Given the description of an element on the screen output the (x, y) to click on. 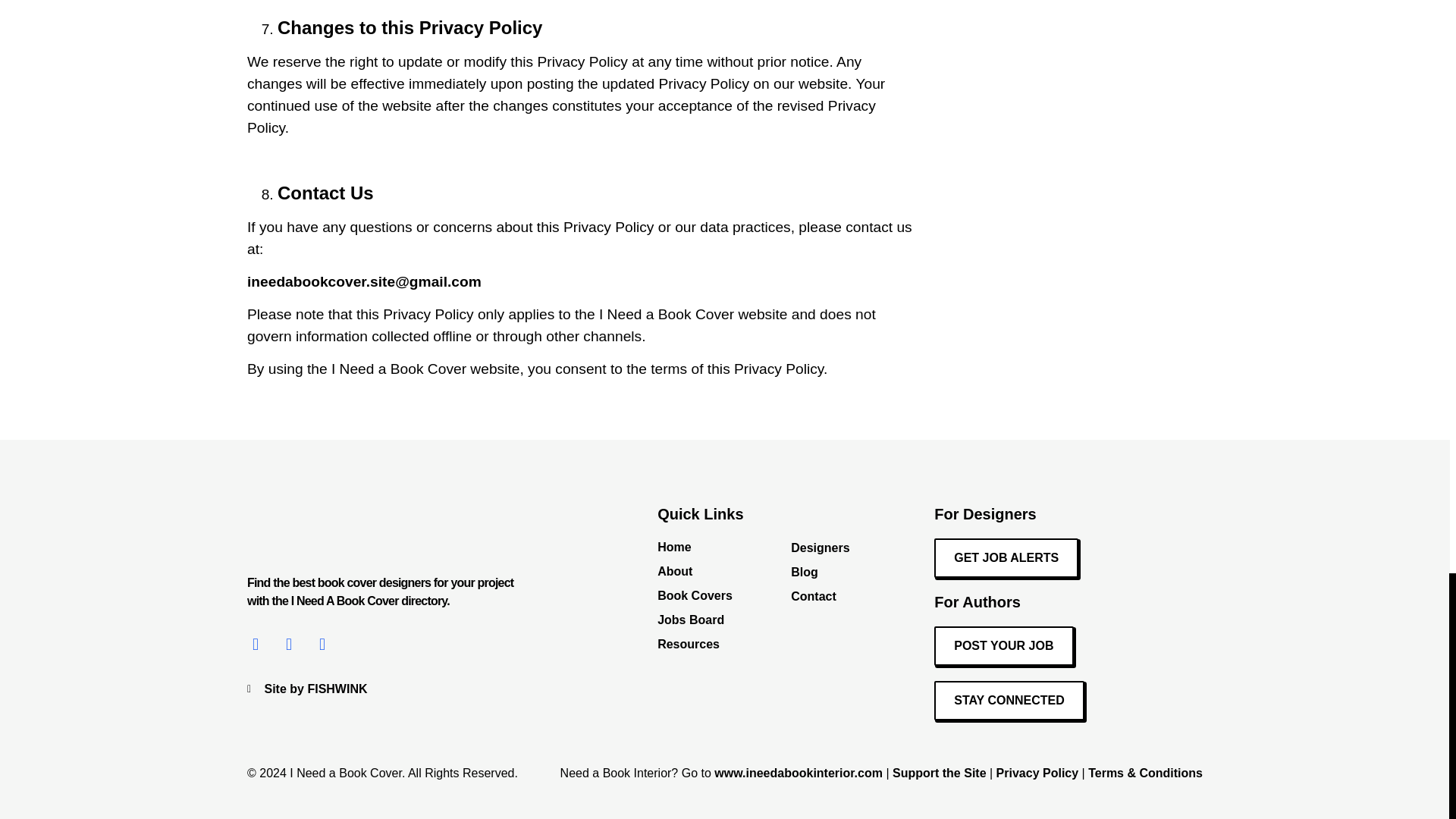
Contact (814, 597)
Site by FISHWINK (380, 689)
Designers (814, 547)
Home (724, 547)
Resources (724, 644)
Book Covers (724, 596)
STAY CONNECTED (1009, 700)
About (724, 571)
Support the Site (939, 772)
Blog (814, 572)
Jobs Board (724, 619)
POST YOUR JOB (1003, 645)
GET JOB ALERTS (1006, 558)
www.ineedabookinterior.com (798, 772)
